Given the description of an element on the screen output the (x, y) to click on. 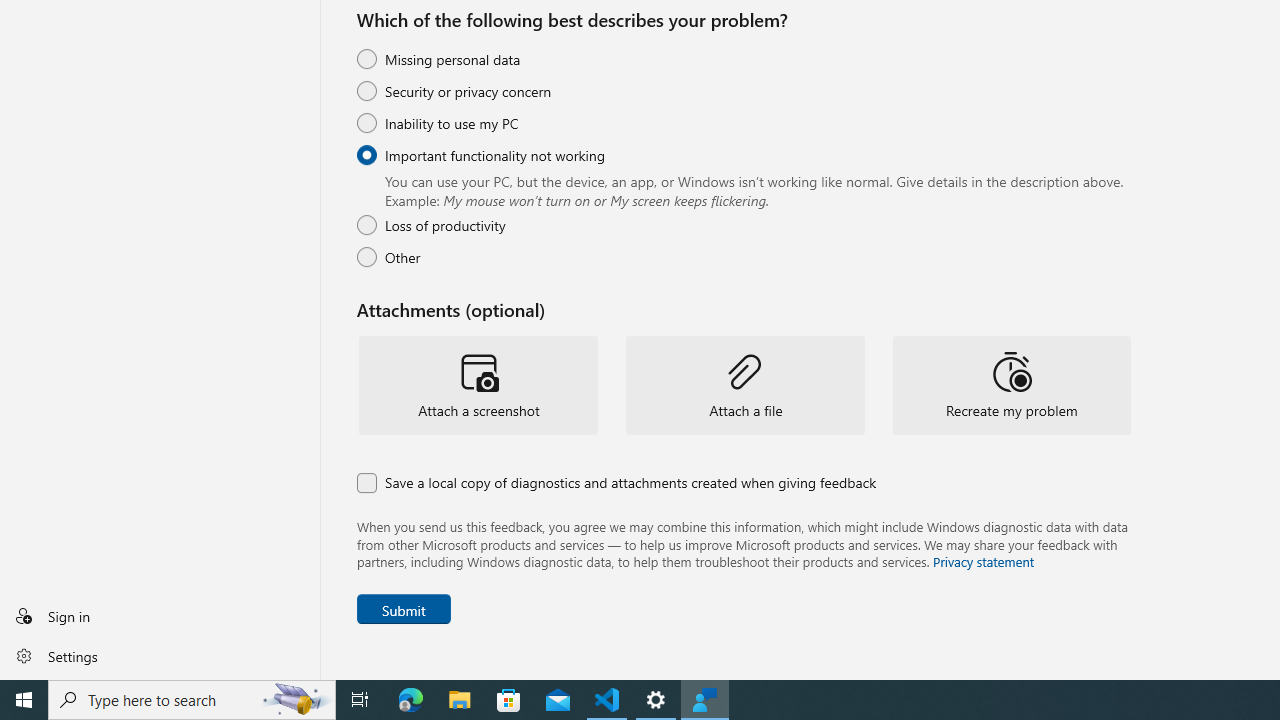
File Explorer (460, 699)
Type here to search (191, 699)
Feedback Hub - 1 running window (704, 699)
Visual Studio Code - 1 running window (607, 699)
Search highlights icon opens search home window (295, 699)
Privacy statement (983, 560)
Attach a screenshot (478, 385)
Microsoft Store (509, 699)
